Given the description of an element on the screen output the (x, y) to click on. 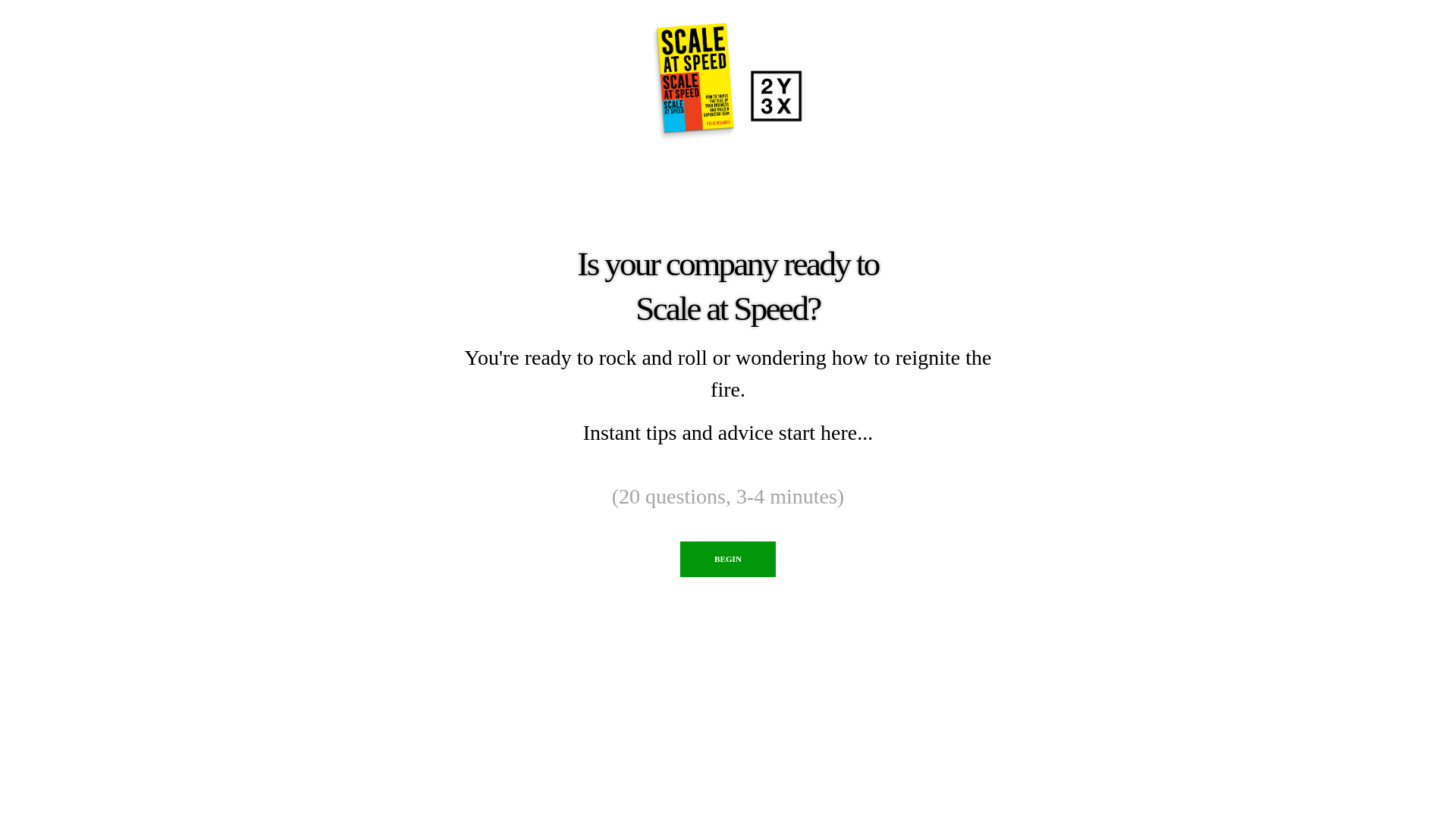
BEGIN Element type: text (727, 559)
